Given the description of an element on the screen output the (x, y) to click on. 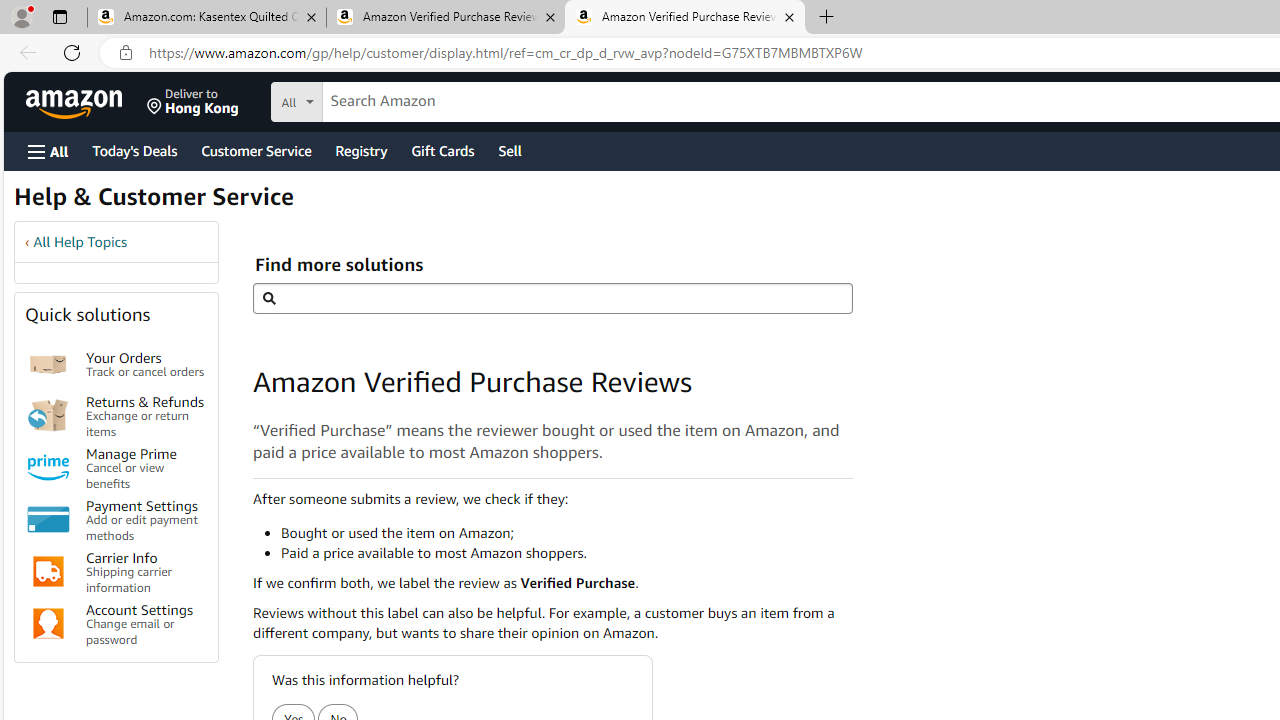
Payment Settings (48, 520)
Deliver to Hong Kong (193, 101)
Sell (509, 150)
Account Settings Change email or password (145, 623)
Returns & Refunds (48, 415)
Skip to main content (86, 100)
Returns & Refunds (48, 415)
Returns & Refunds Exchange or return items (145, 414)
Today's Deals (134, 150)
View site information (125, 53)
Account Settings (48, 623)
Your Orders (48, 364)
Carrier Info Shipping carrier information (145, 571)
Search in (371, 99)
